Given the description of an element on the screen output the (x, y) to click on. 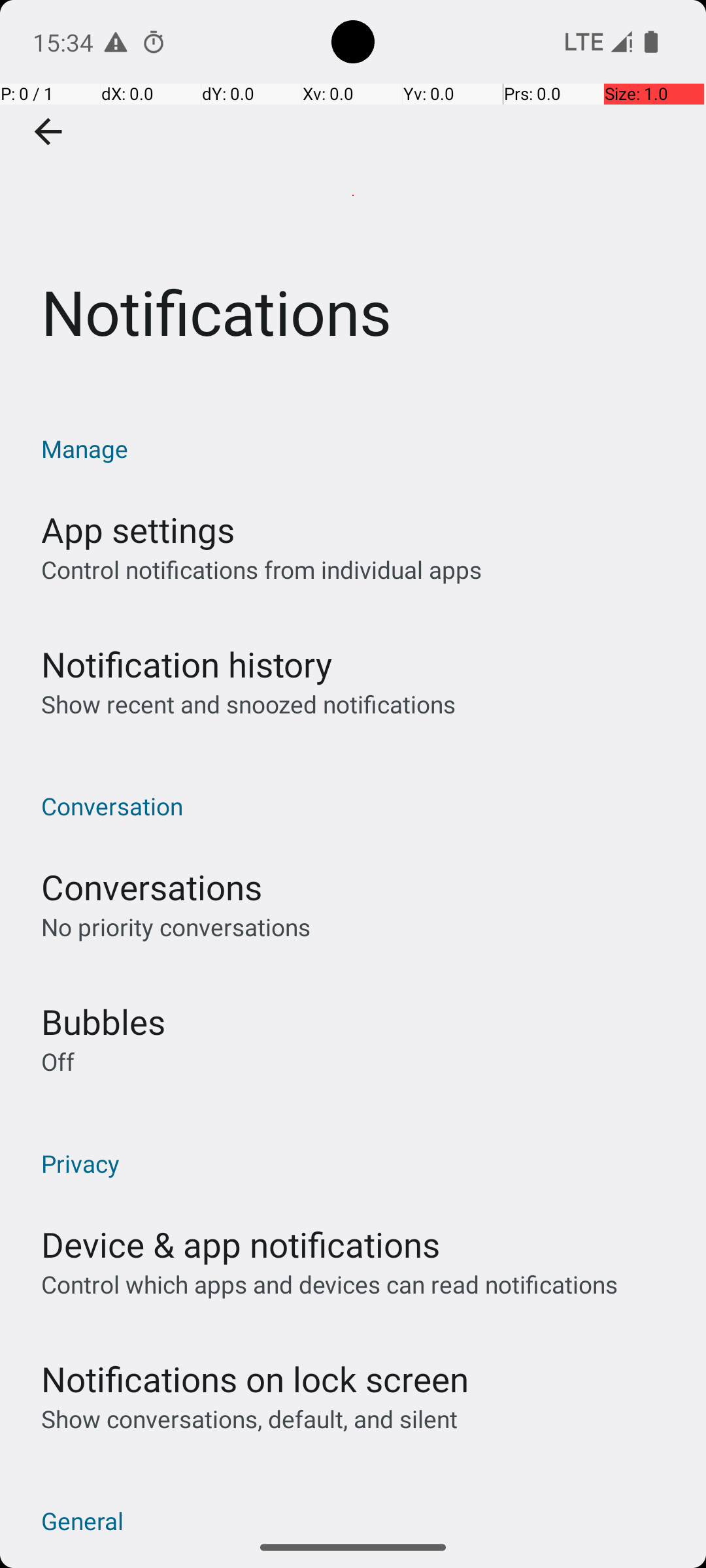
App settings Element type: android.widget.TextView (137, 529)
Control notifications from individual apps Element type: android.widget.TextView (261, 569)
Show recent and snoozed notifications Element type: android.widget.TextView (248, 703)
Conversation Element type: android.widget.TextView (359, 805)
No priority conversations Element type: android.widget.TextView (175, 926)
Privacy Element type: android.widget.TextView (359, 1162)
Control which apps and devices can read notifications Element type: android.widget.TextView (329, 1283)
Show conversations, default, and silent Element type: android.widget.TextView (249, 1418)
